Given the description of an element on the screen output the (x, y) to click on. 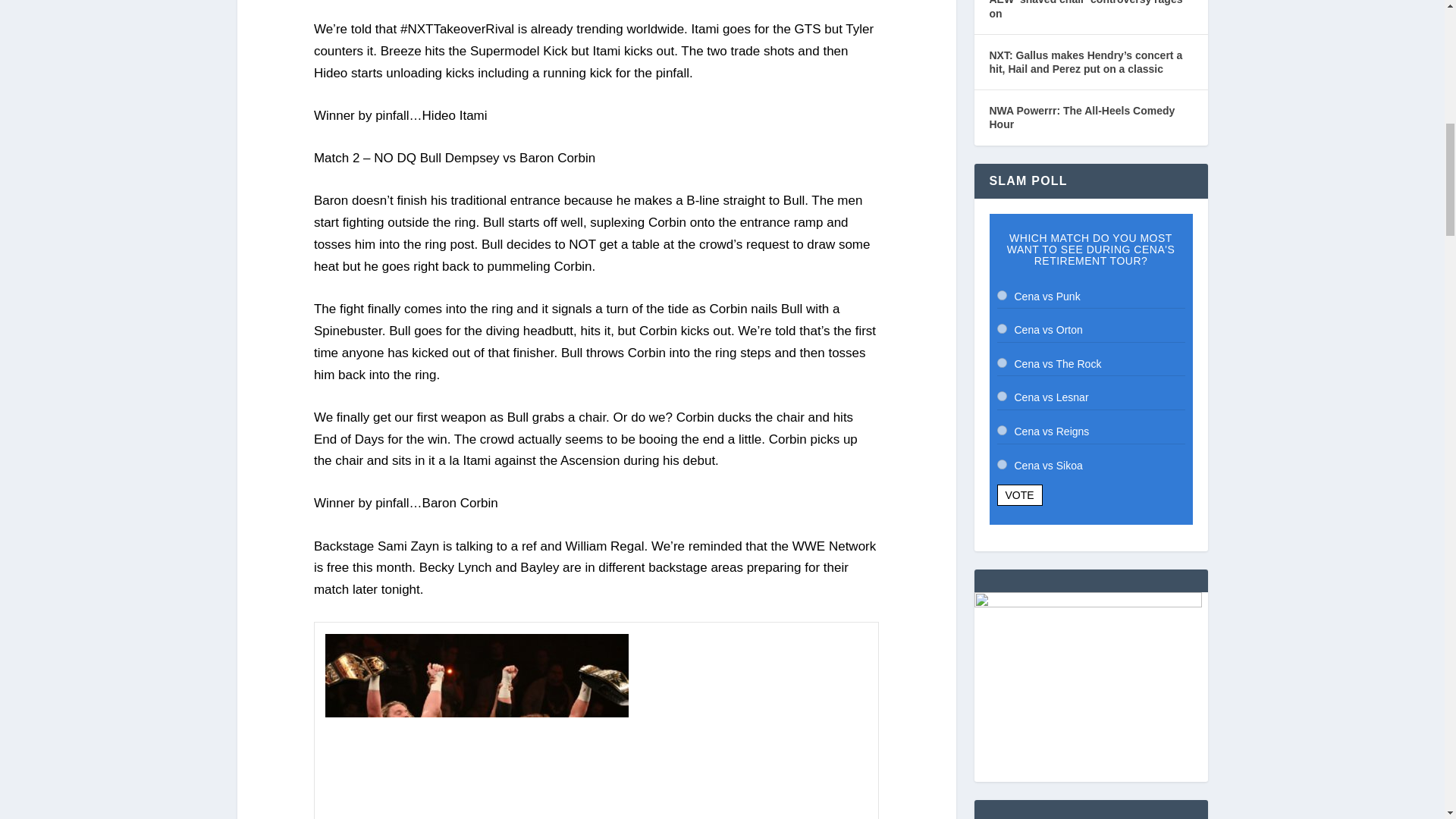
6498 (1000, 328)
6497 (1000, 295)
6501 (1000, 429)
6500 (1000, 396)
6502 (1000, 464)
6499 (1000, 362)
